Given the description of an element on the screen output the (x, y) to click on. 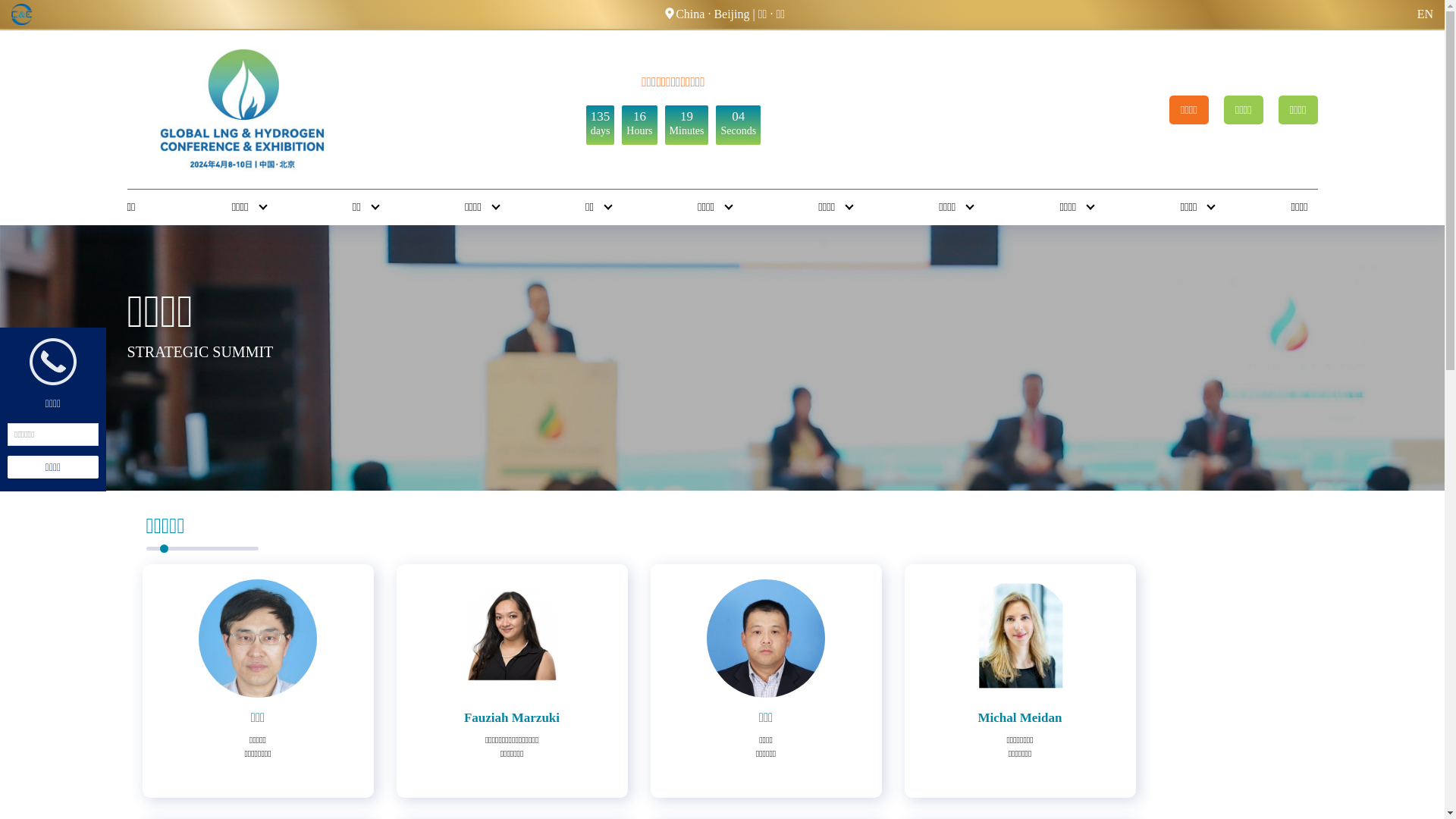
EN Element type: text (1425, 14)
